Given the description of an element on the screen output the (x, y) to click on. 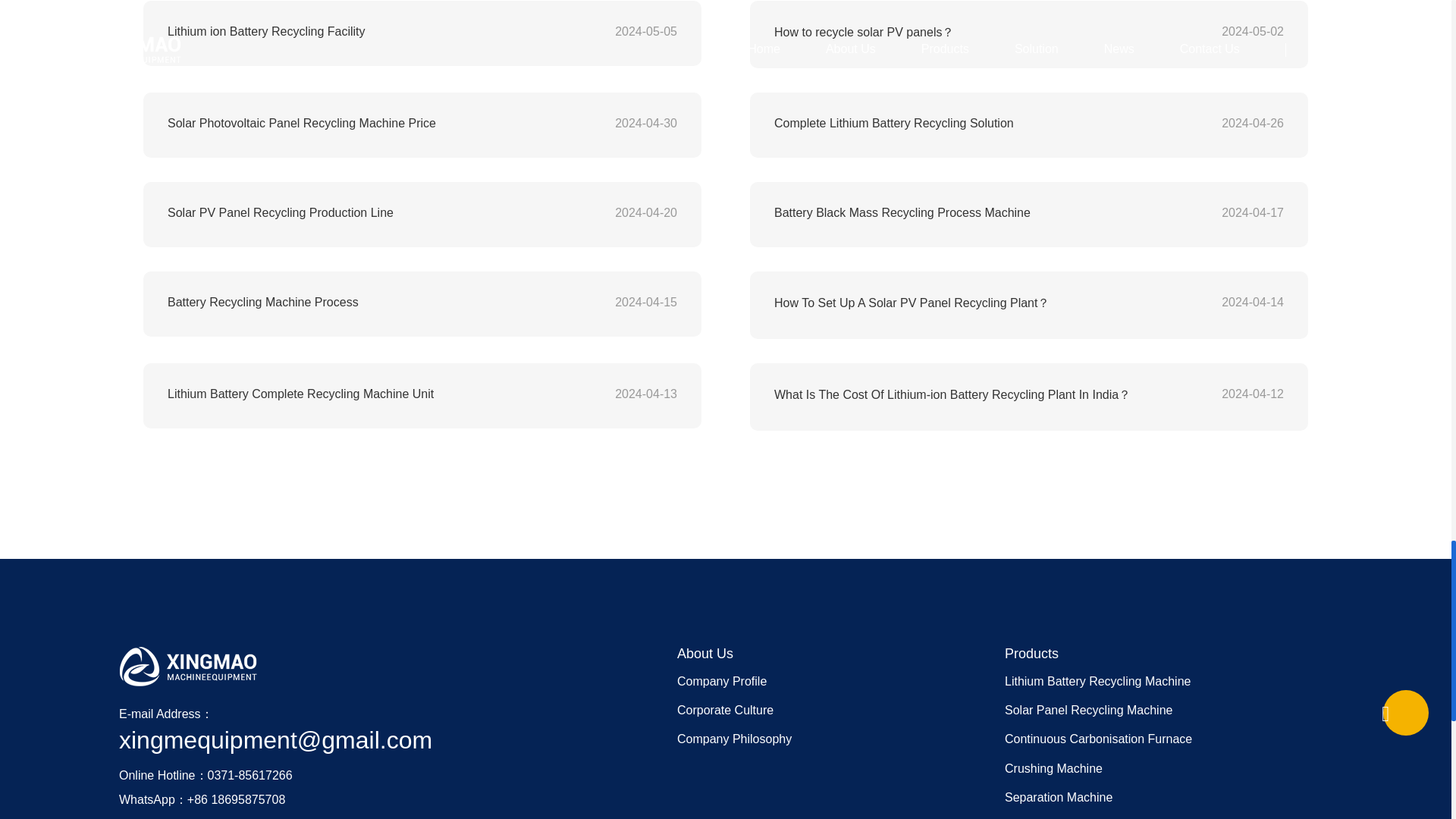
Solar Photovoltaic Panel Recycling Machine Price (371, 123)
Lithium Battery Complete Recycling Machine Unit (371, 394)
Lithium ion Battery Recycling Facility (371, 31)
Solar PV Panel Recycling Production Line (371, 213)
Battery Black Mass Recycling Process Machine (978, 213)
Battery Recycling Machine Process (371, 302)
Complete Lithium Battery Recycling Solution (978, 123)
